Given the description of an element on the screen output the (x, y) to click on. 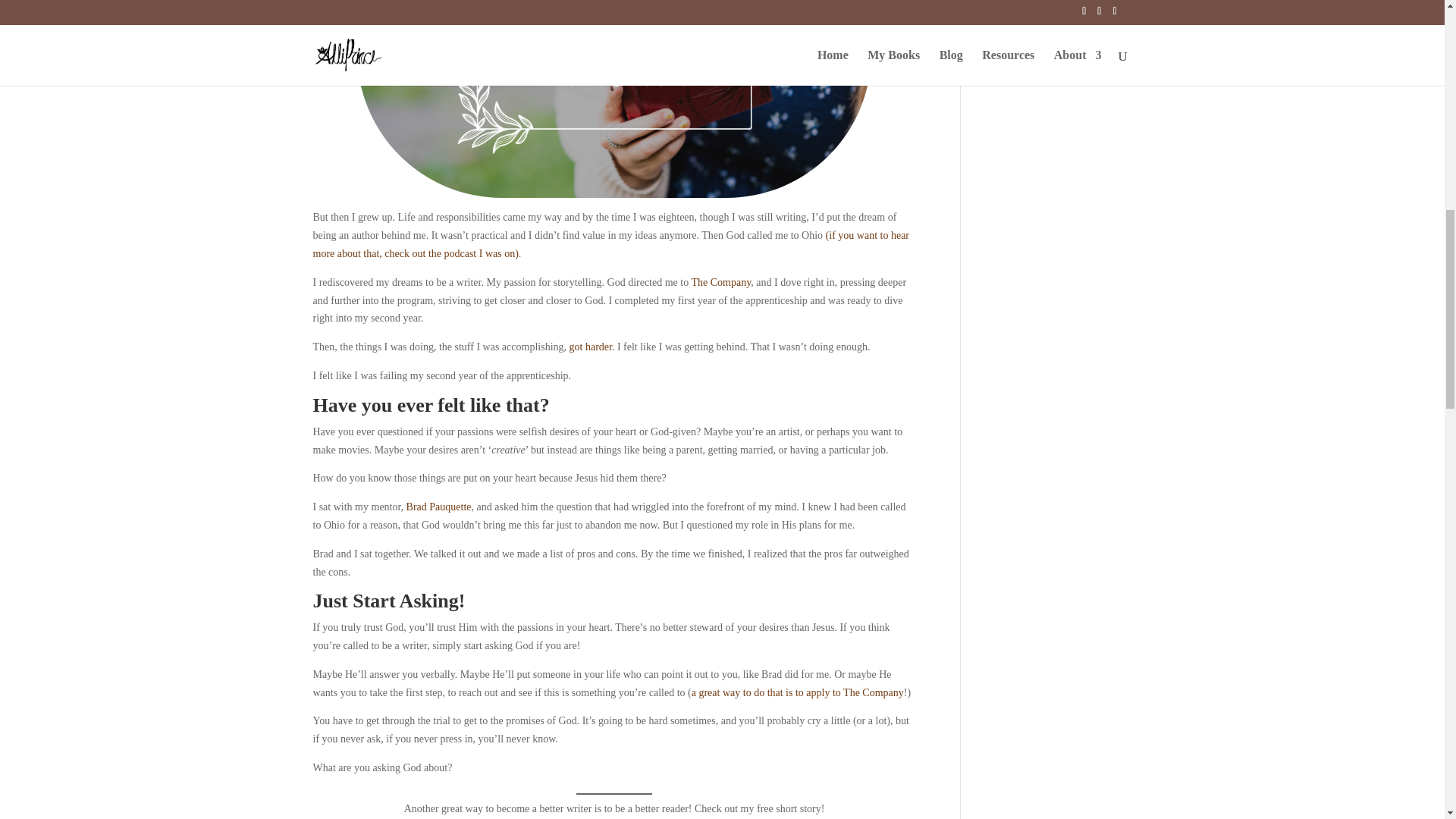
got harder (590, 346)
Brad Pauquette (438, 506)
The Company (720, 282)
a great way to do that is to apply to The Company (797, 692)
